Given the description of an element on the screen output the (x, y) to click on. 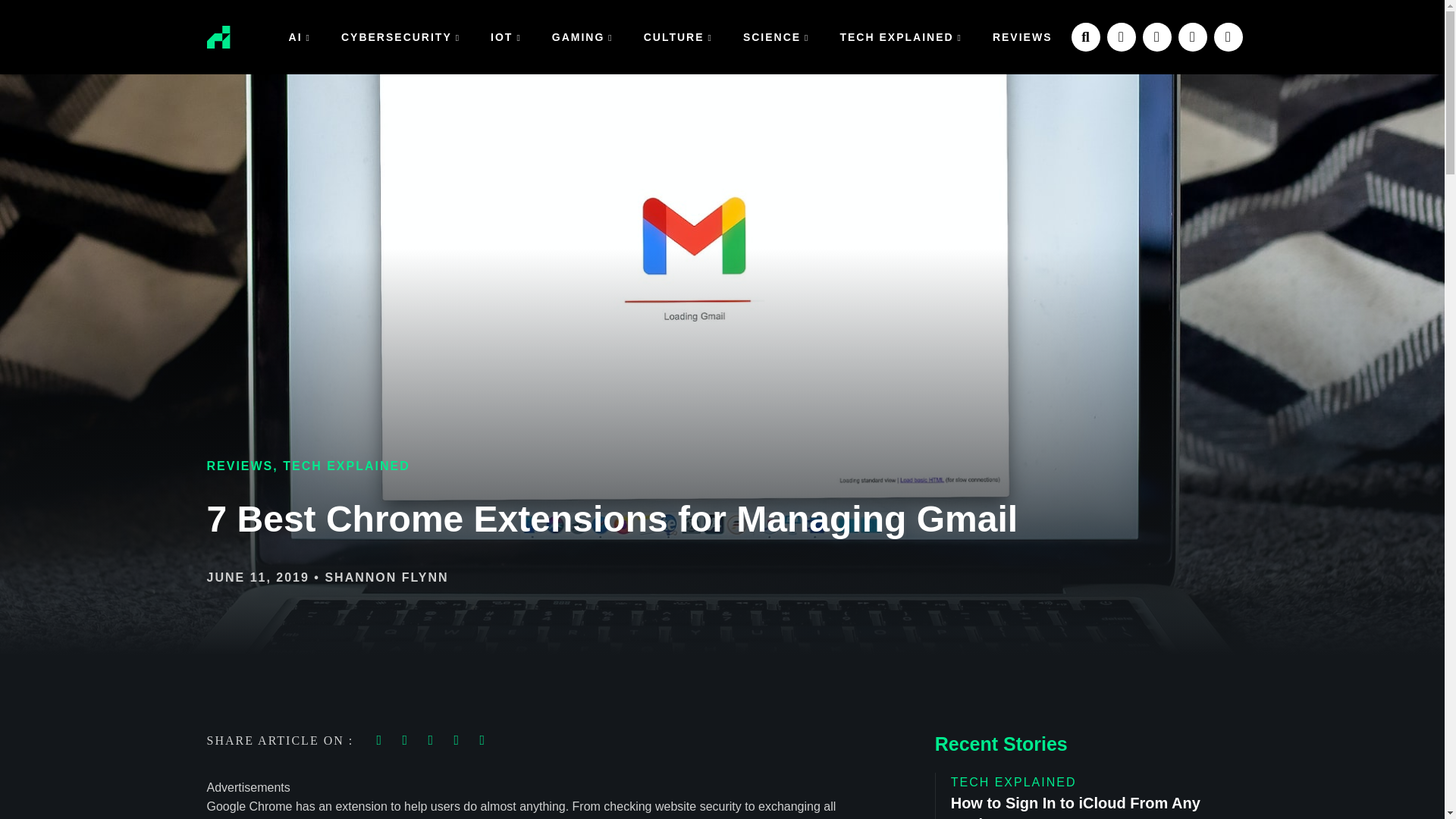
CYBERSECURITY (401, 36)
REVIEWS (239, 465)
TECH EXPLAINED (900, 36)
rehack-logo (218, 36)
AI (299, 36)
SHANNON FLYNN (386, 576)
GAMING (582, 36)
CULTURE (678, 36)
SCIENCE (776, 36)
REVIEWS (1021, 36)
